Given the description of an element on the screen output the (x, y) to click on. 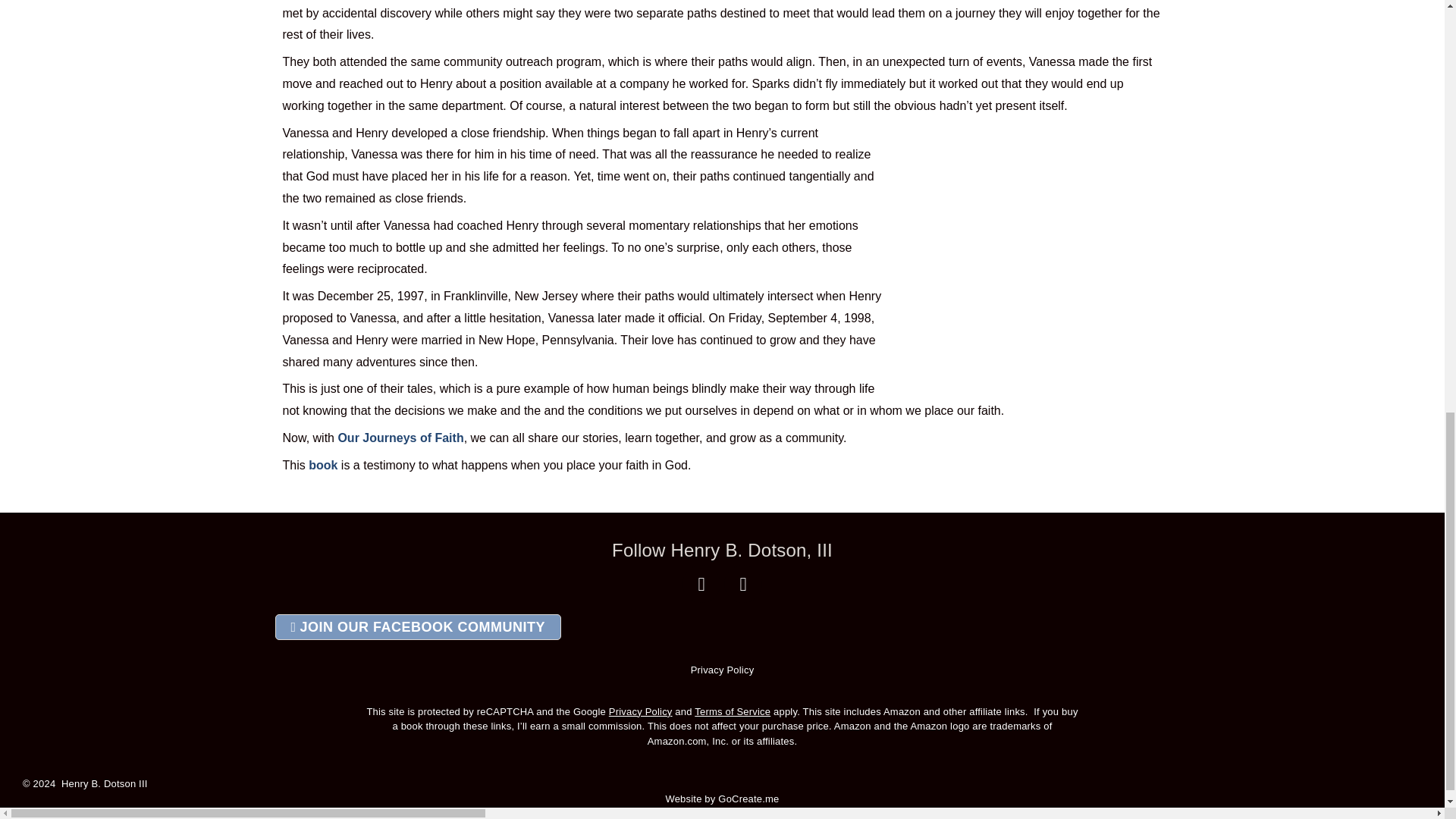
Privacy Policy (640, 711)
Our Journeys of Faith (400, 437)
Privacy Policy (722, 670)
JOIN OUR FACEBOOK COMMUNITY (417, 626)
book (322, 464)
